Given the description of an element on the screen output the (x, y) to click on. 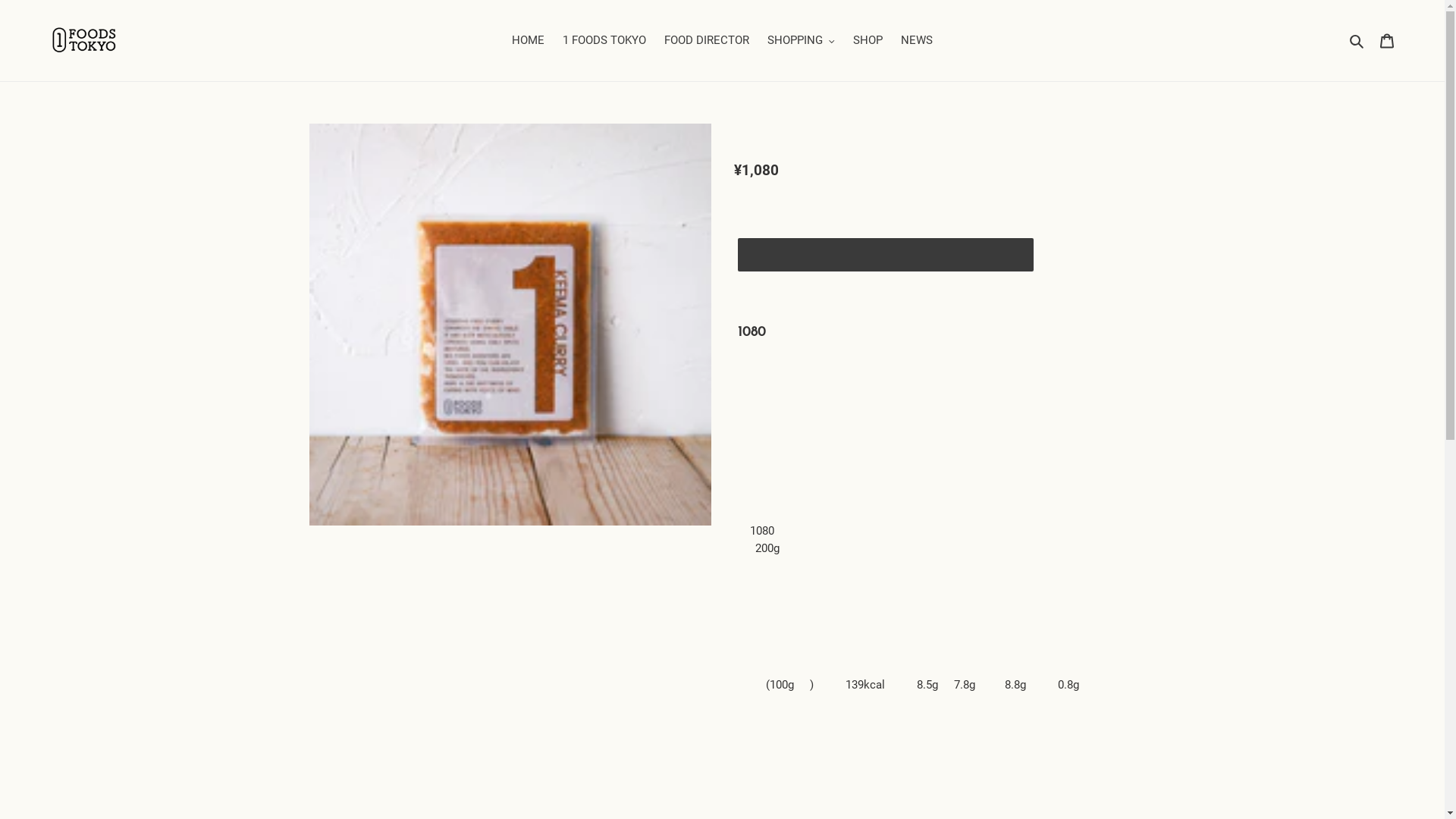
SHOPPING Element type: text (800, 40)
SHOP Element type: text (867, 40)
FOOD DIRECTOR Element type: text (706, 40)
HOME Element type: text (528, 40)
NEWS Element type: text (916, 40)
1 FOODS TOKYO Element type: text (604, 40)
